Given the description of an element on the screen output the (x, y) to click on. 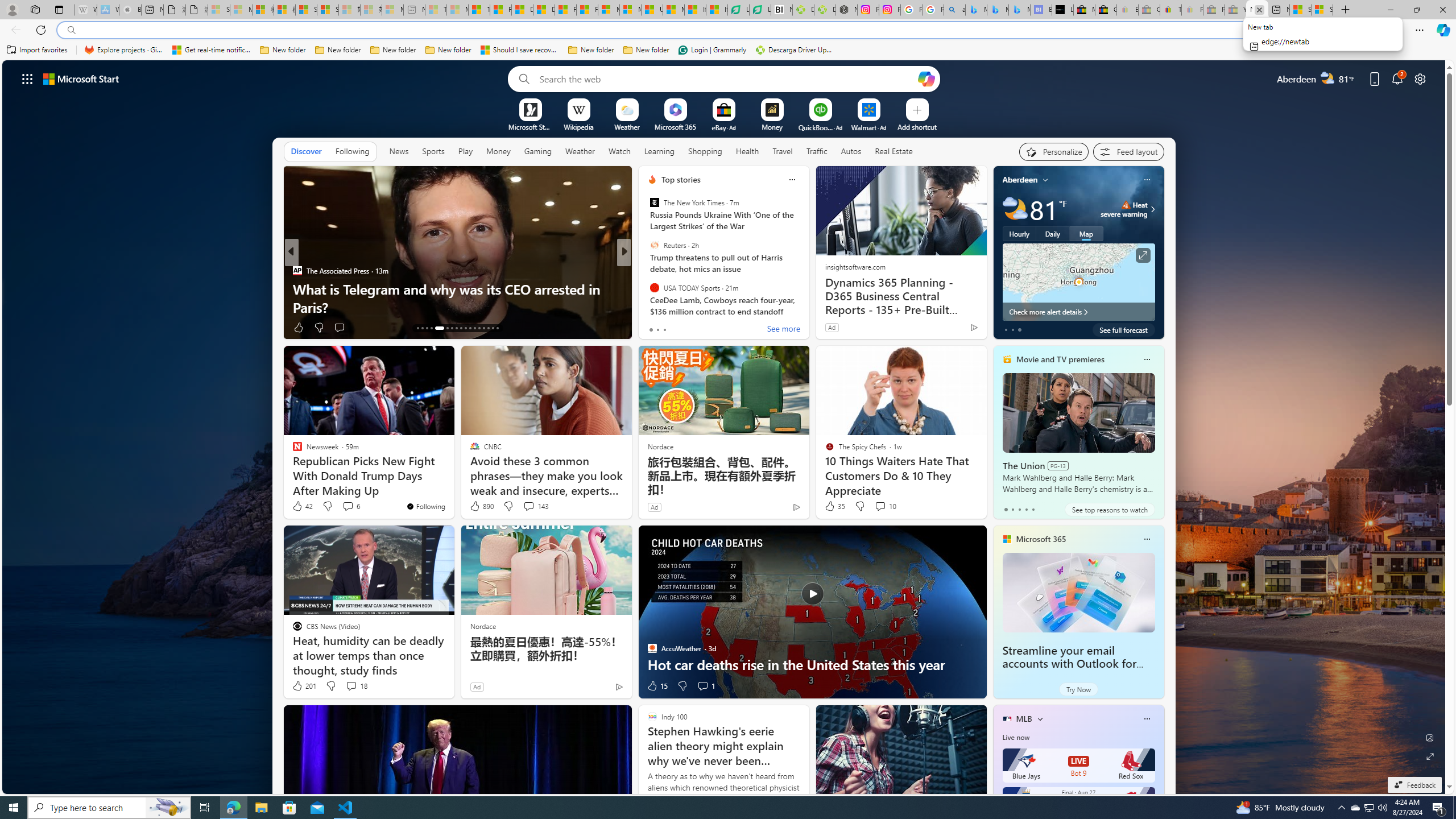
Following (352, 151)
Favorites bar (728, 49)
Top Stories - MSN - Sleeping (435, 9)
Shanghai, China hourly forecast | Microsoft Weather (1300, 9)
More options (1146, 718)
Marine life - MSN - Sleeping (457, 9)
Following (352, 151)
AutomationID: tab-25 (478, 328)
Click to see more information (1142, 255)
Blue Jays LIVE Bot 9 Red Sox (1077, 765)
My location (1045, 179)
AutomationID: tab-31 (488, 328)
Heat - Severe Heat severe warning (1123, 208)
Class: icon-img (1146, 718)
